Given the description of an element on the screen output the (x, y) to click on. 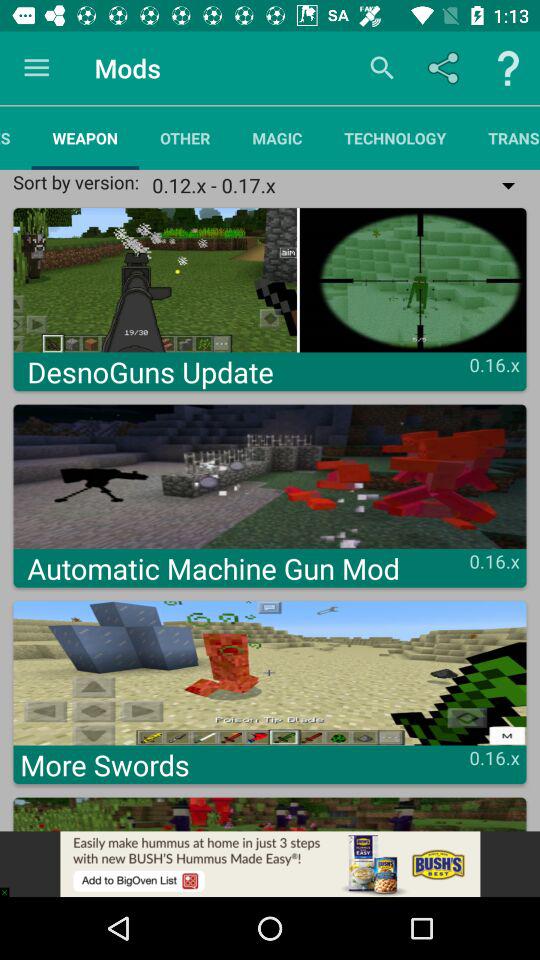
click on advertisement (270, 864)
